Given the description of an element on the screen output the (x, y) to click on. 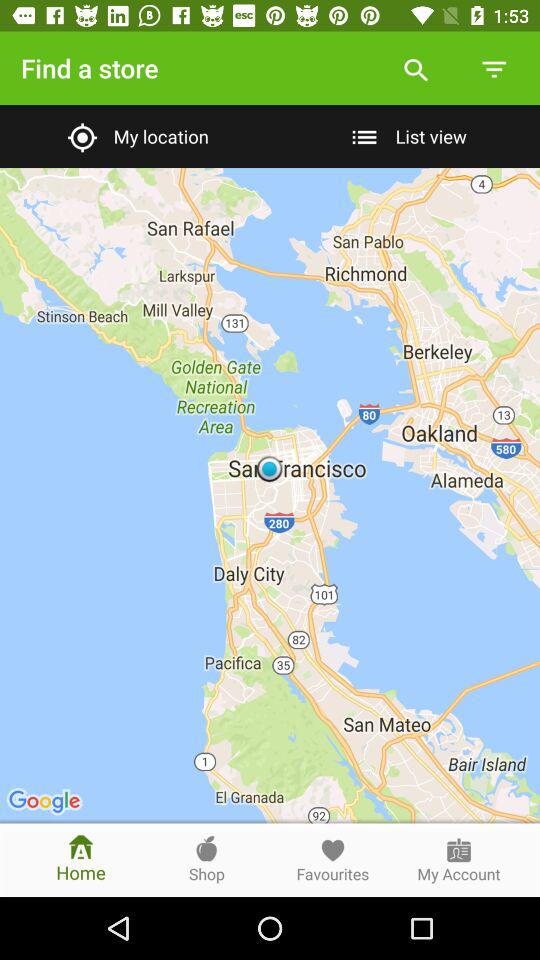
click the item above list view (415, 67)
